Given the description of an element on the screen output the (x, y) to click on. 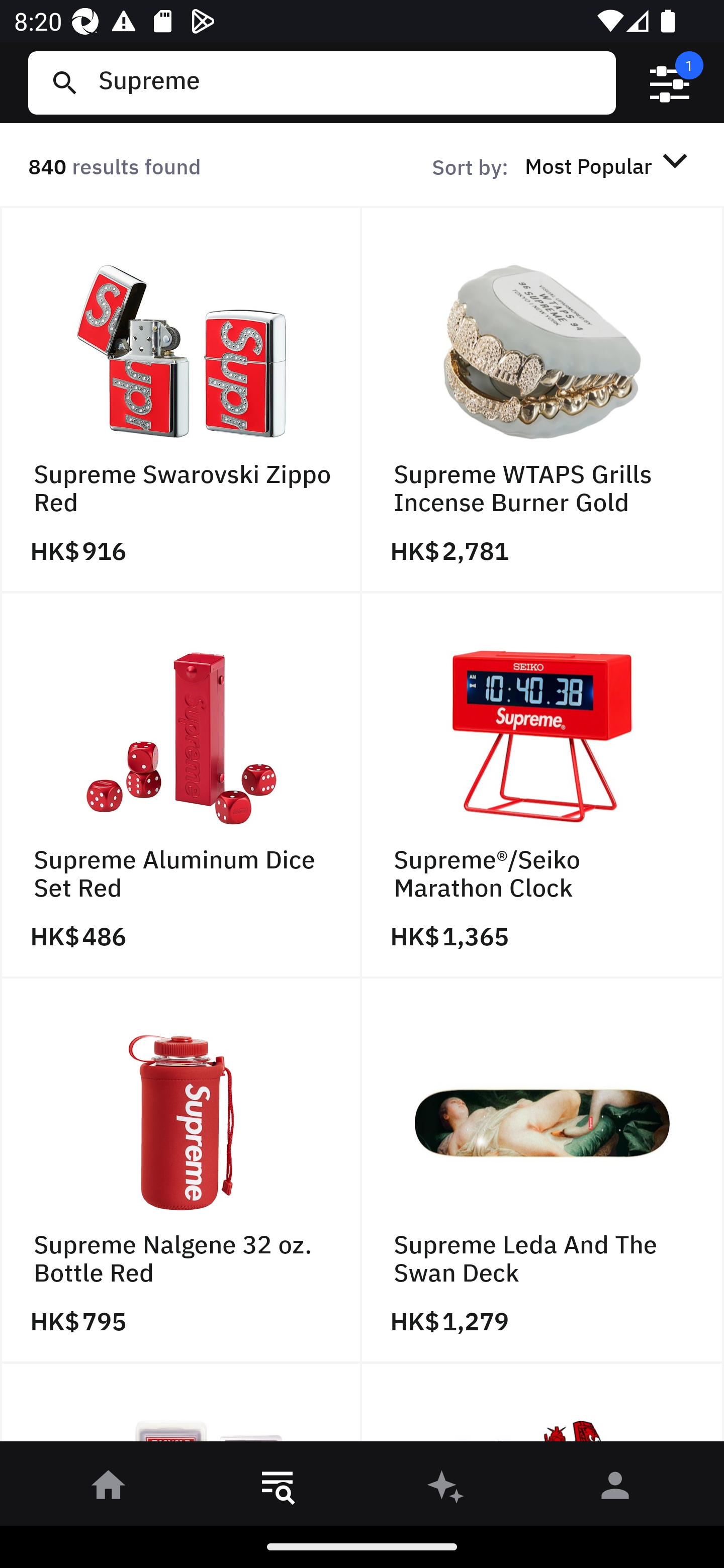
Supreme (349, 82)
 (669, 82)
Most Popular  (609, 165)
Supreme Swarovski Zippo Red HK$ 916 (181, 399)
Supreme WTAPS Grills Incense Burner Gold HK$ 2,781 (543, 399)
Supreme Aluminum Dice Set Red HK$ 486 (181, 785)
Supreme®/Seiko Marathon Clock HK$ 1,365 (543, 785)
Supreme Nalgene 32 oz. Bottle Red HK$ 795 (181, 1171)
Supreme Leda And The Swan Deck HK$ 1,279 (543, 1171)
󰋜 (108, 1488)
󱎸 (277, 1488)
󰫢 (446, 1488)
󰀄 (615, 1488)
